Given the description of an element on the screen output the (x, y) to click on. 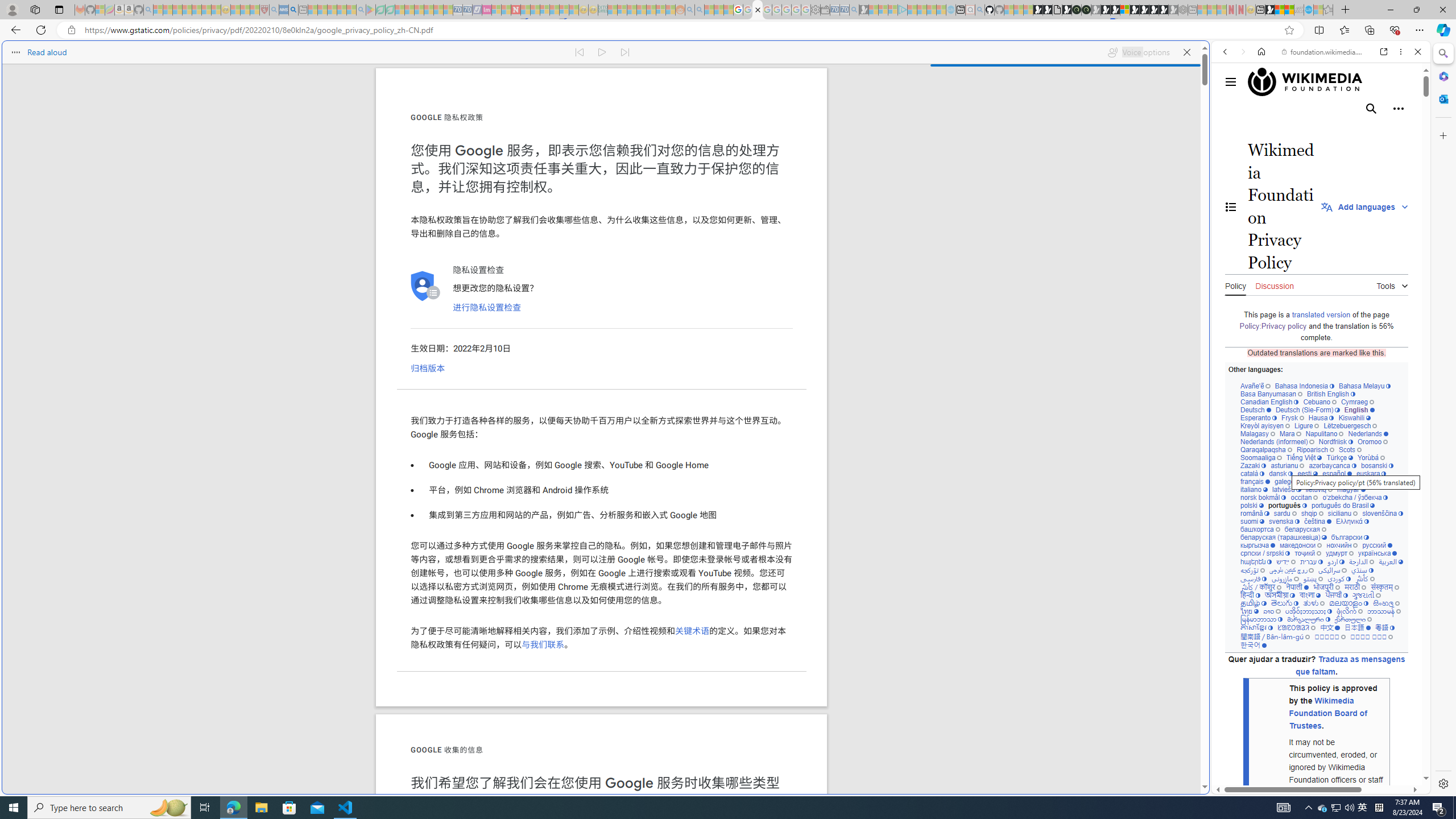
galego (1287, 481)
Actions for this site (1370, 583)
Cheap Hotels - Save70.com - Sleeping (467, 9)
Expert Portfolios - Sleeping (640, 9)
Policy (1235, 284)
utah sues federal government - Search (922, 389)
Discussion (1274, 284)
